Given the description of an element on the screen output the (x, y) to click on. 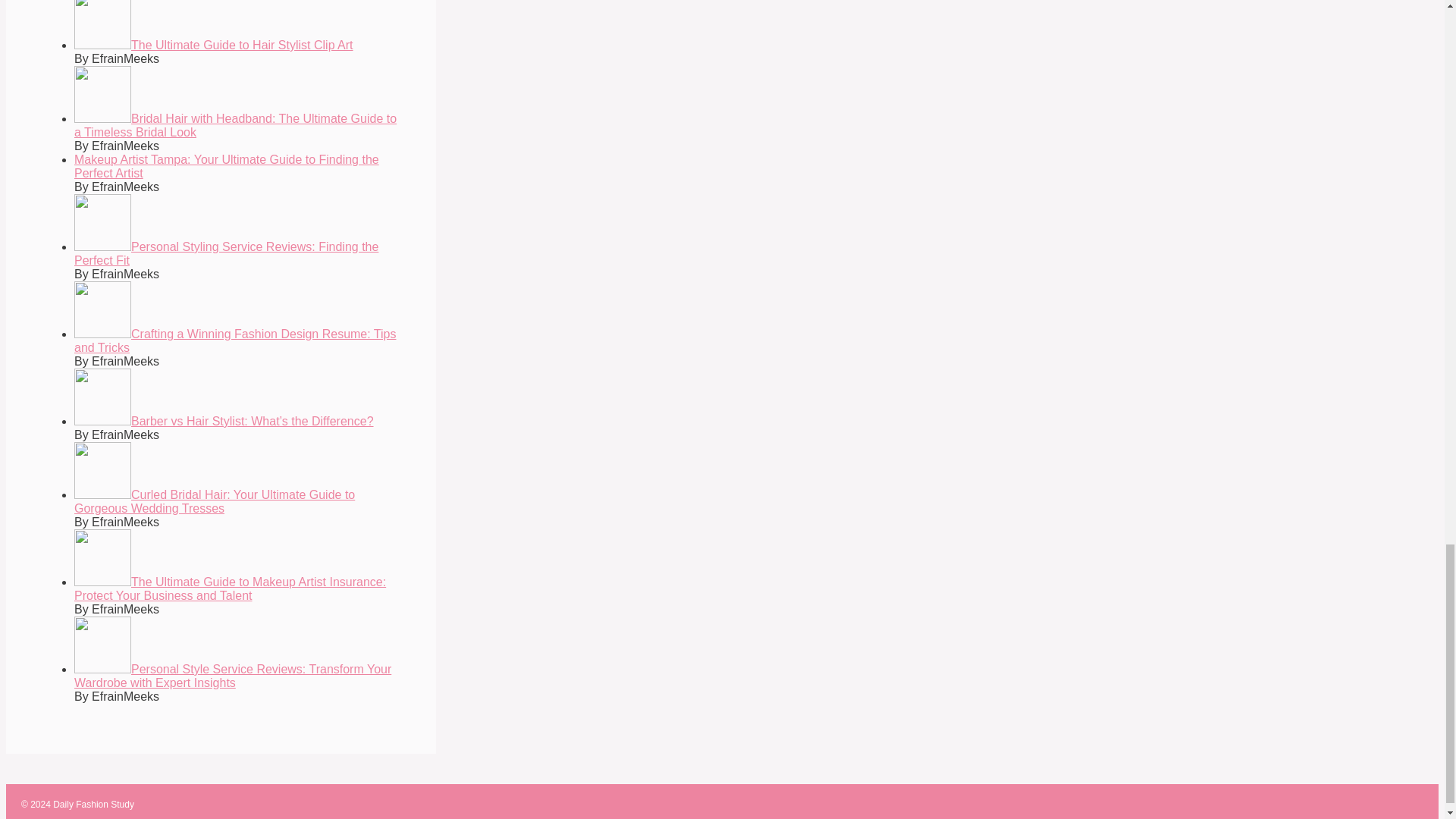
Personal Styling Service Reviews: Finding the Perfect Fit (226, 253)
Crafting a Winning Fashion Design Resume: Tips and Tricks (235, 340)
The Ultimate Guide to Hair Stylist Clip Art (213, 44)
